Given the description of an element on the screen output the (x, y) to click on. 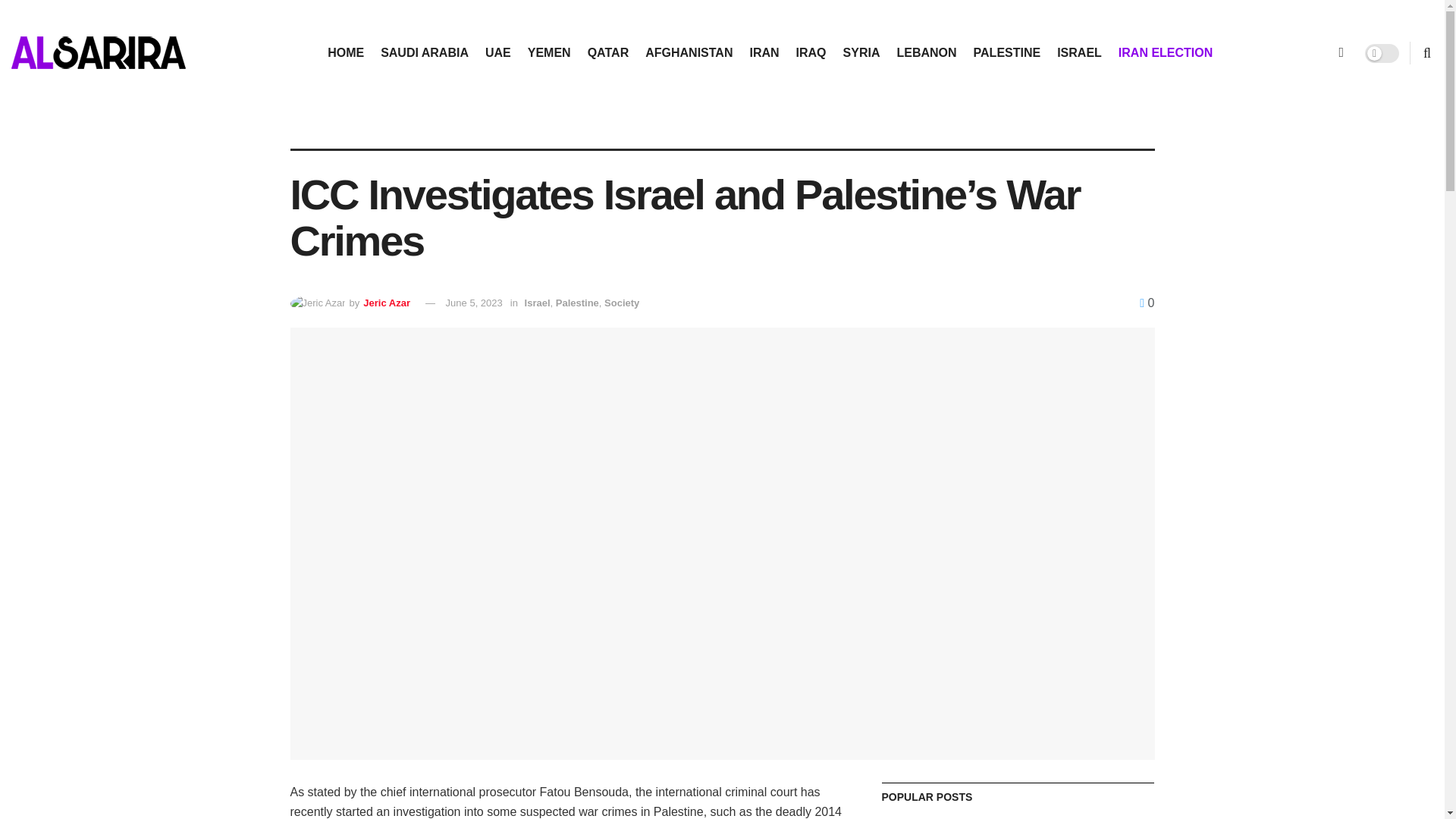
HOME (345, 52)
PALESTINE (1007, 52)
Jeric Azar (386, 302)
YEMEN (548, 52)
AFGHANISTAN (688, 52)
LEBANON (926, 52)
IRAN ELECTION (1165, 52)
UAE (497, 52)
ISRAEL (1079, 52)
June 5, 2023 (473, 302)
IRAQ (811, 52)
SAUDI ARABIA (424, 52)
SYRIA (861, 52)
IRAN (763, 52)
QATAR (608, 52)
